Given the description of an element on the screen output the (x, y) to click on. 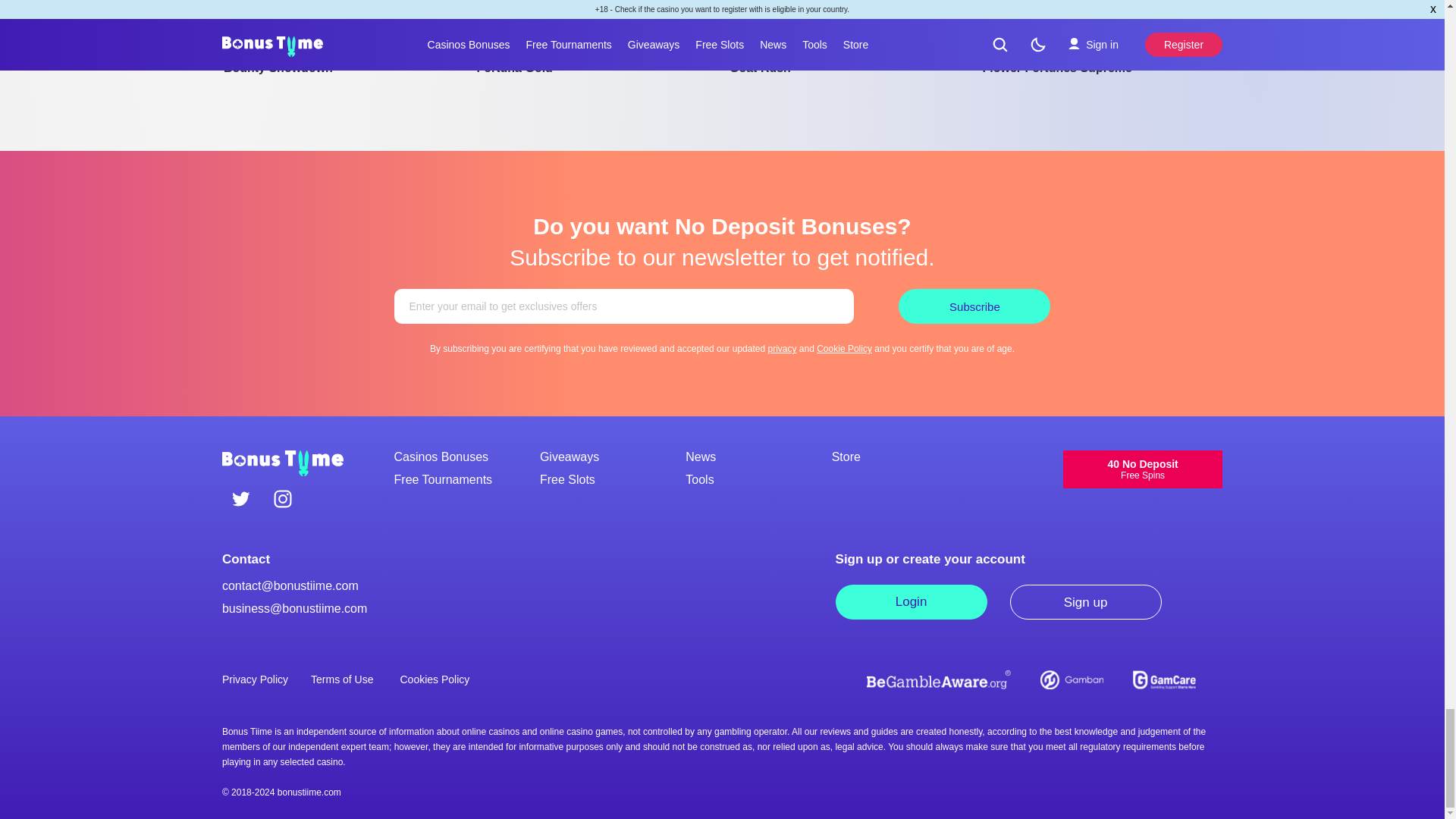
Subscribe (973, 306)
Instagram (282, 499)
Twitter (241, 499)
